Given the description of an element on the screen output the (x, y) to click on. 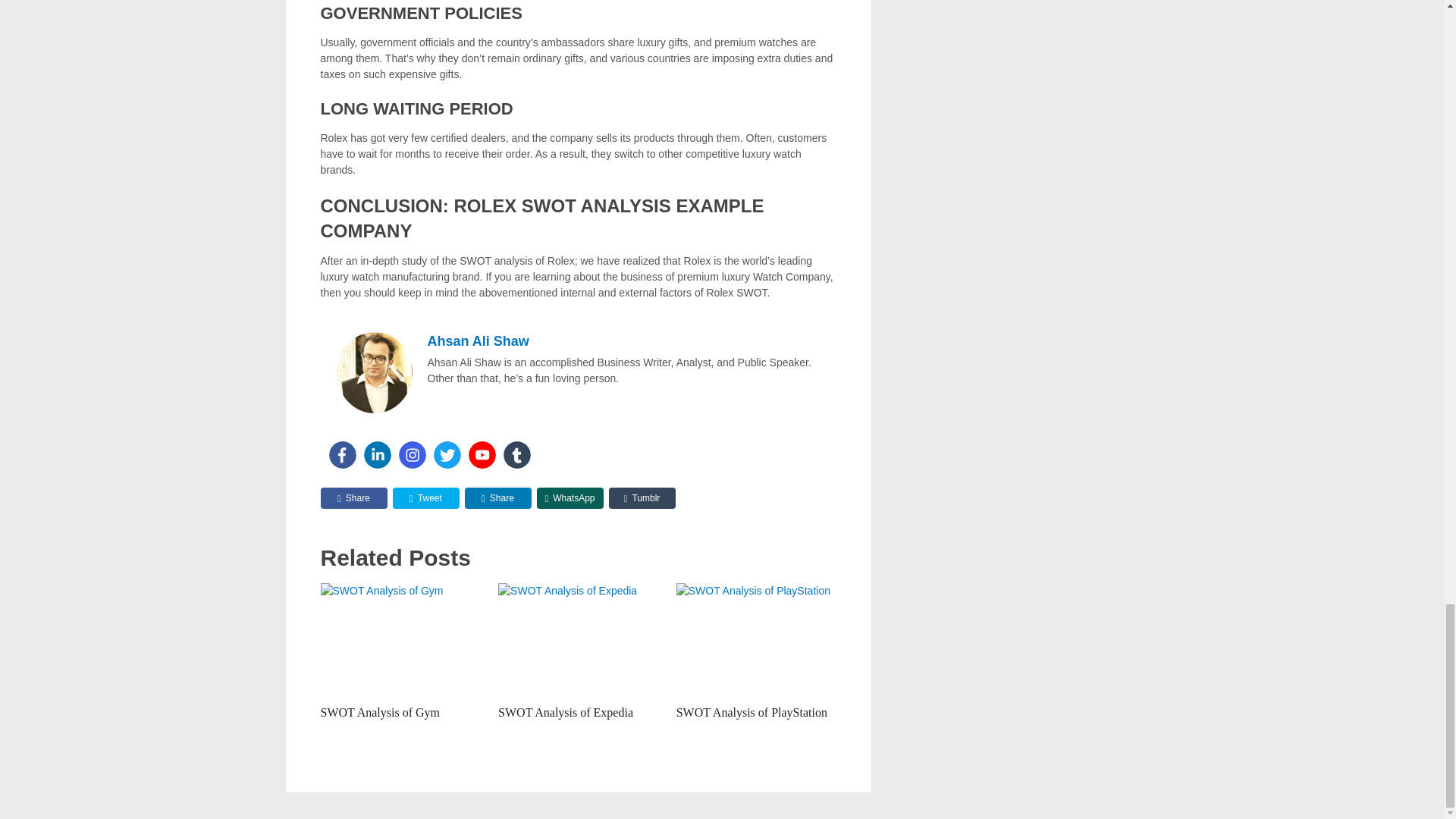
SWOT Analysis of Expedia (565, 712)
Ahsan Ali Shaw (478, 340)
Tweet (426, 497)
SWOT Analysis of Expedia (577, 639)
Share (353, 497)
